Given the description of an element on the screen output the (x, y) to click on. 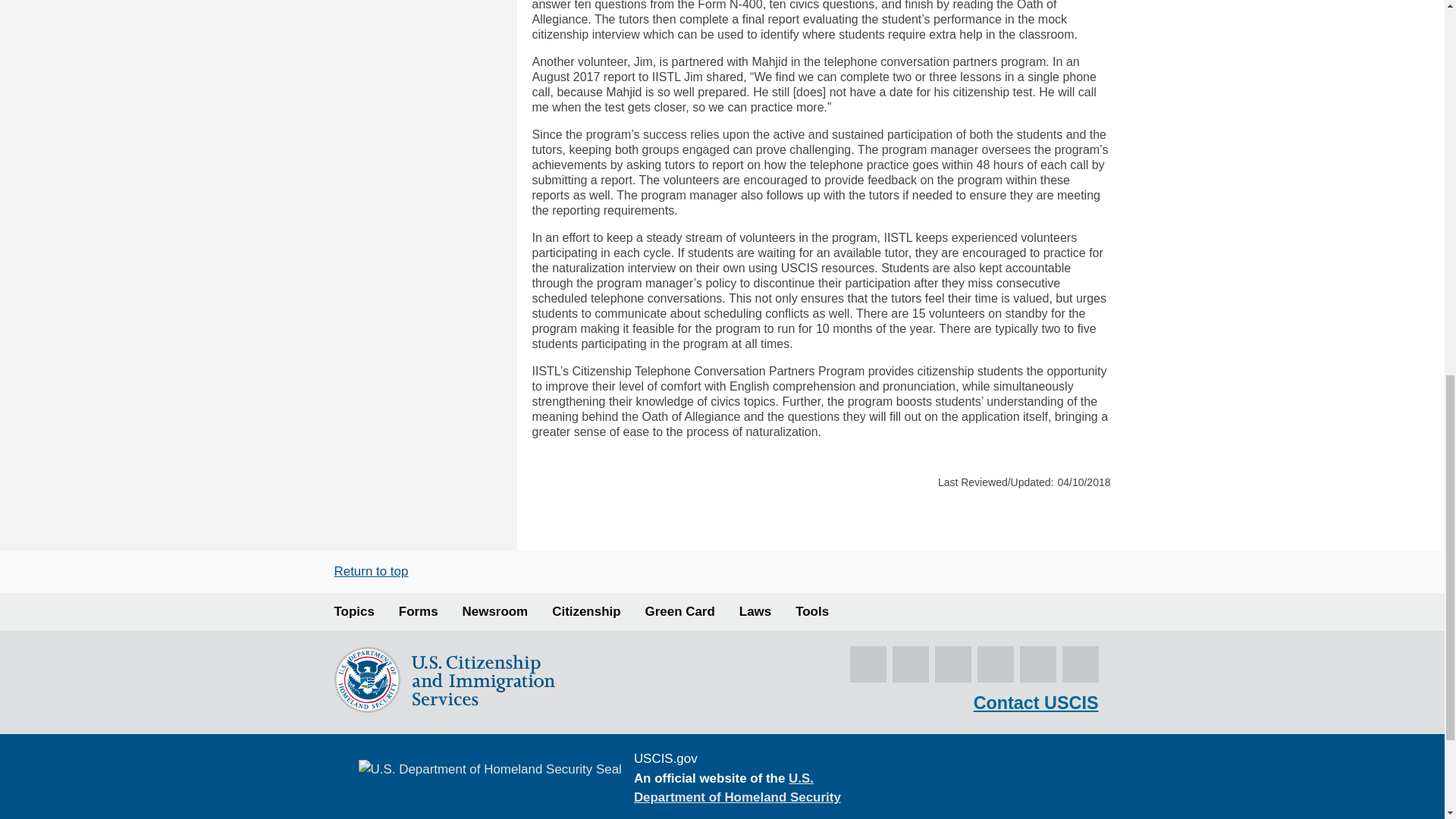
Citizenship (585, 611)
Forms (418, 611)
News (495, 611)
Green Card (679, 611)
